Given the description of an element on the screen output the (x, y) to click on. 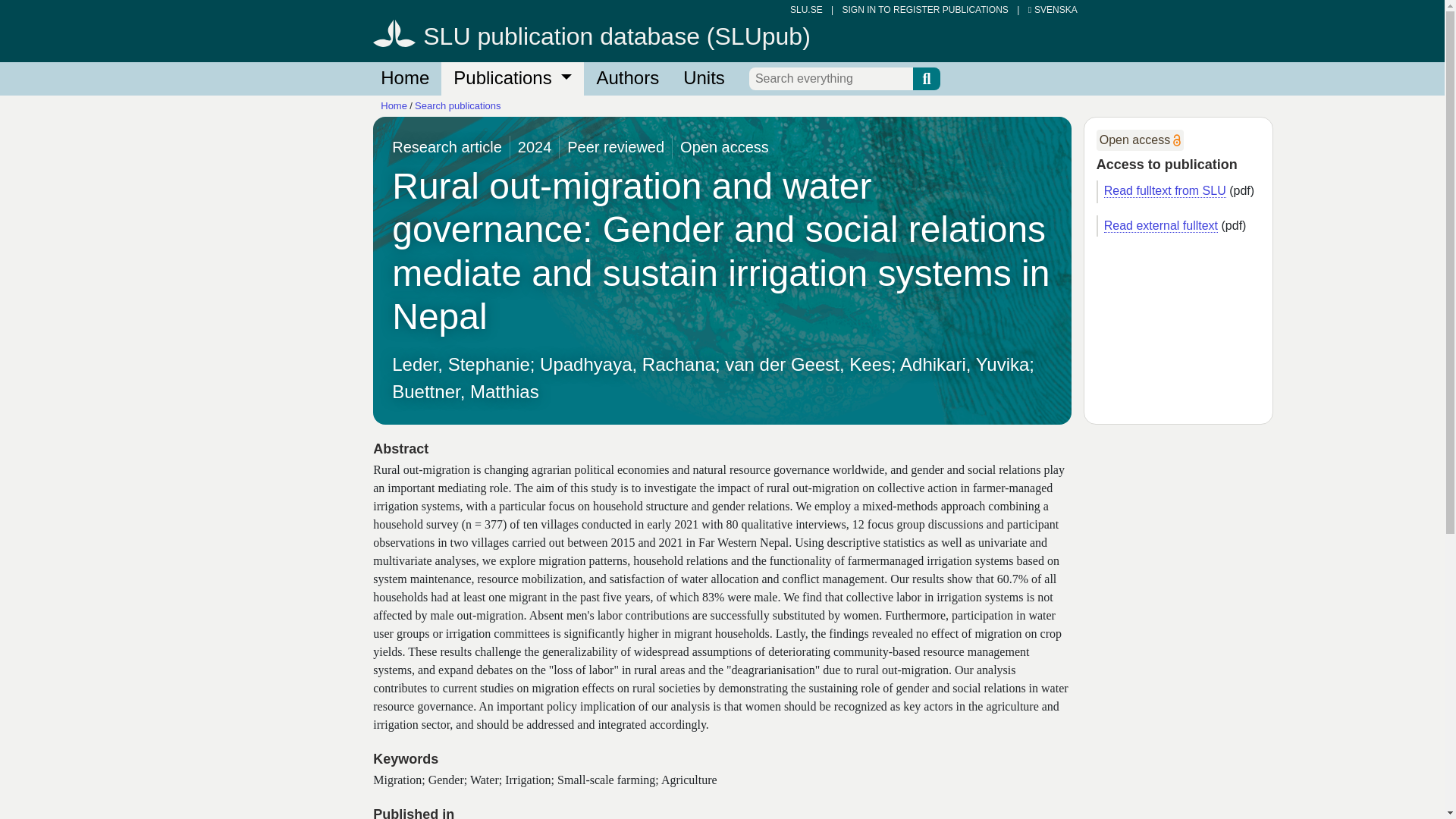
Units (703, 78)
Search publications (457, 105)
SIGN IN TO REGISTER PUBLICATIONS (924, 9)
Publications (512, 78)
Read fulltext from SLU (1164, 191)
Read external fulltext (1160, 225)
SLU.SE (806, 9)
SVENSKA (1052, 9)
Search (926, 78)
Home (393, 105)
Authors (627, 78)
Home (404, 78)
